Given the description of an element on the screen output the (x, y) to click on. 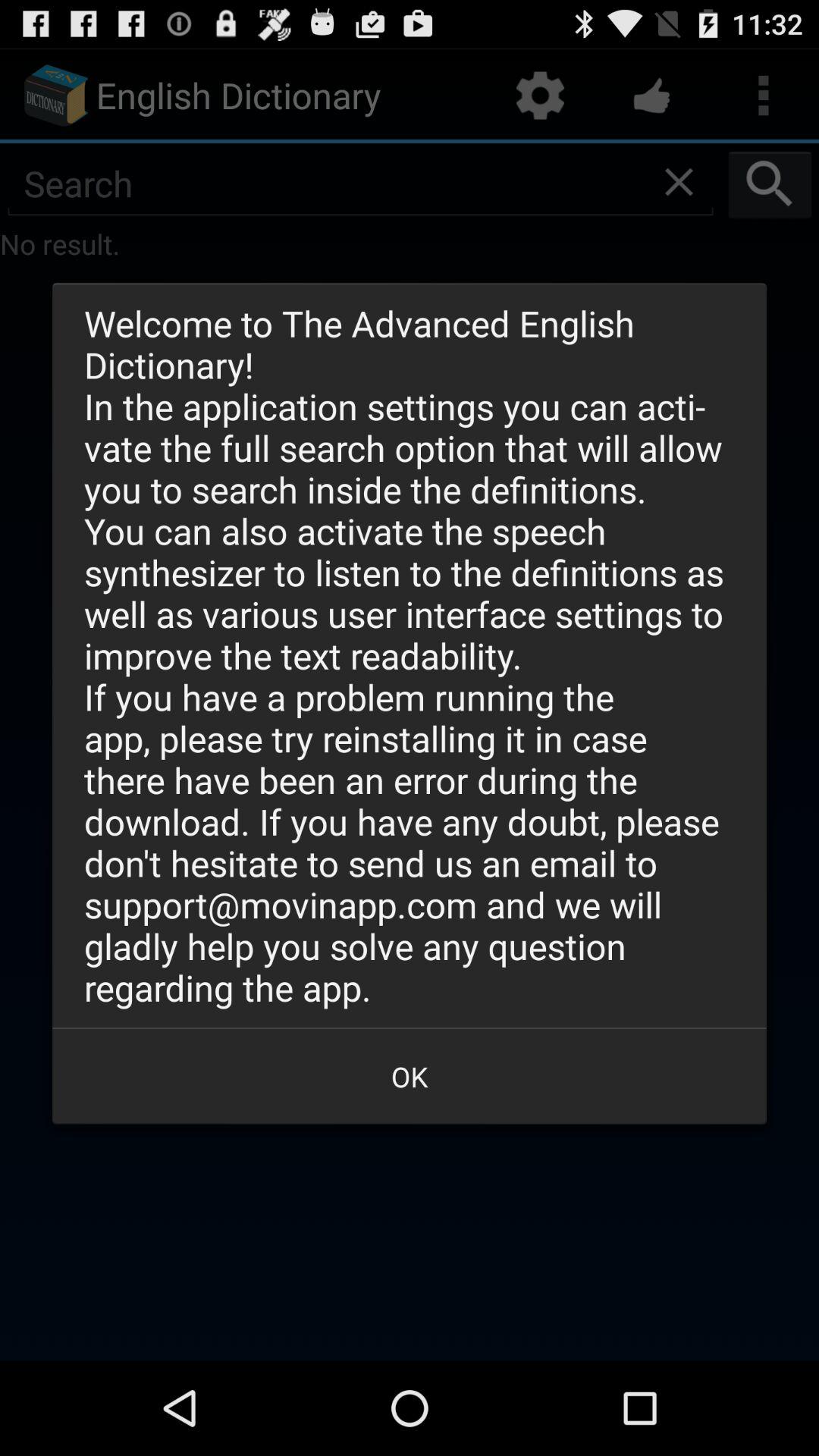
choose icon below the welcome to the (409, 1076)
